Given the description of an element on the screen output the (x, y) to click on. 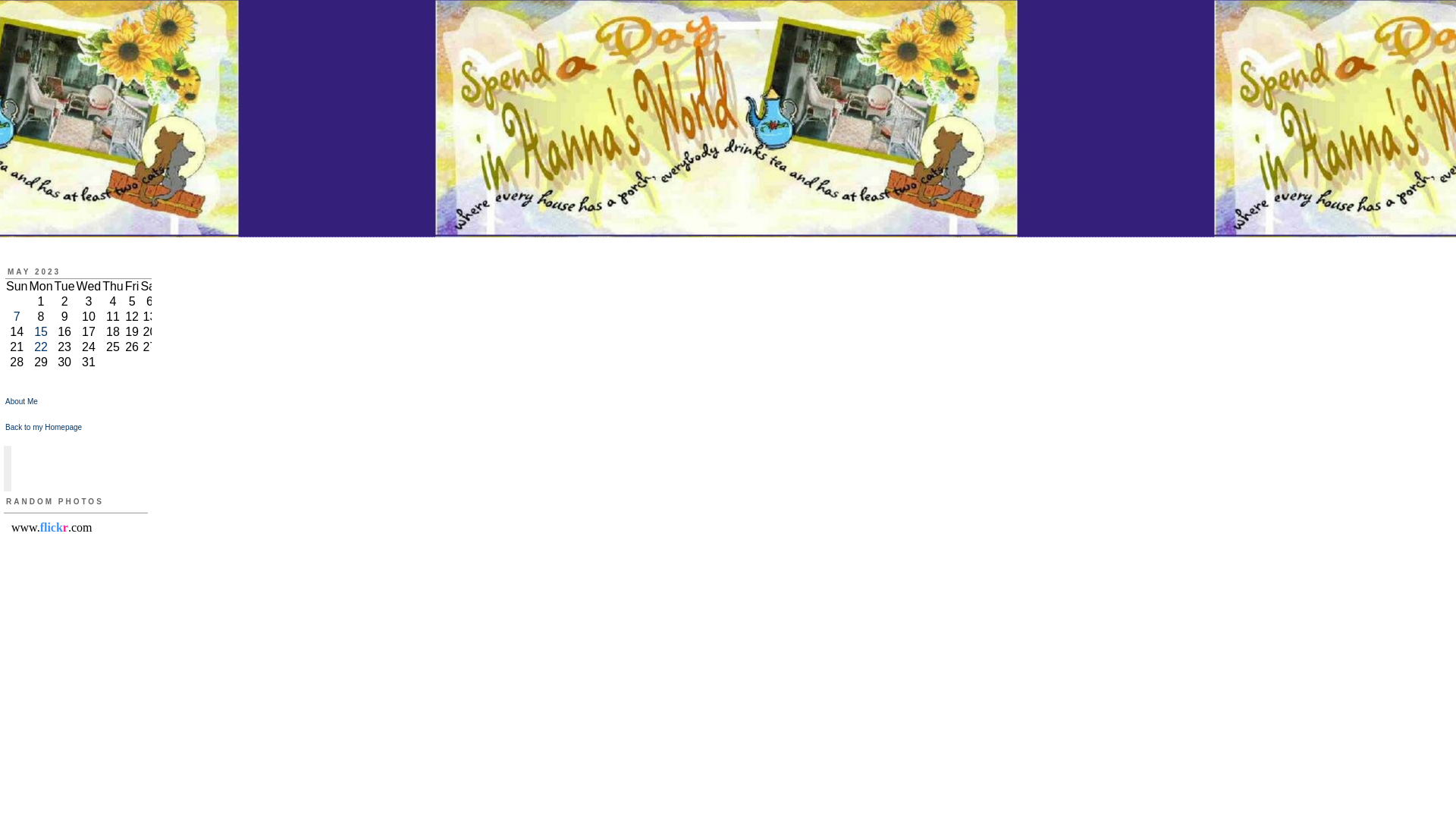
15 (40, 331)
About Me (21, 401)
22 (40, 346)
Back to my Homepage (43, 427)
